Given the description of an element on the screen output the (x, y) to click on. 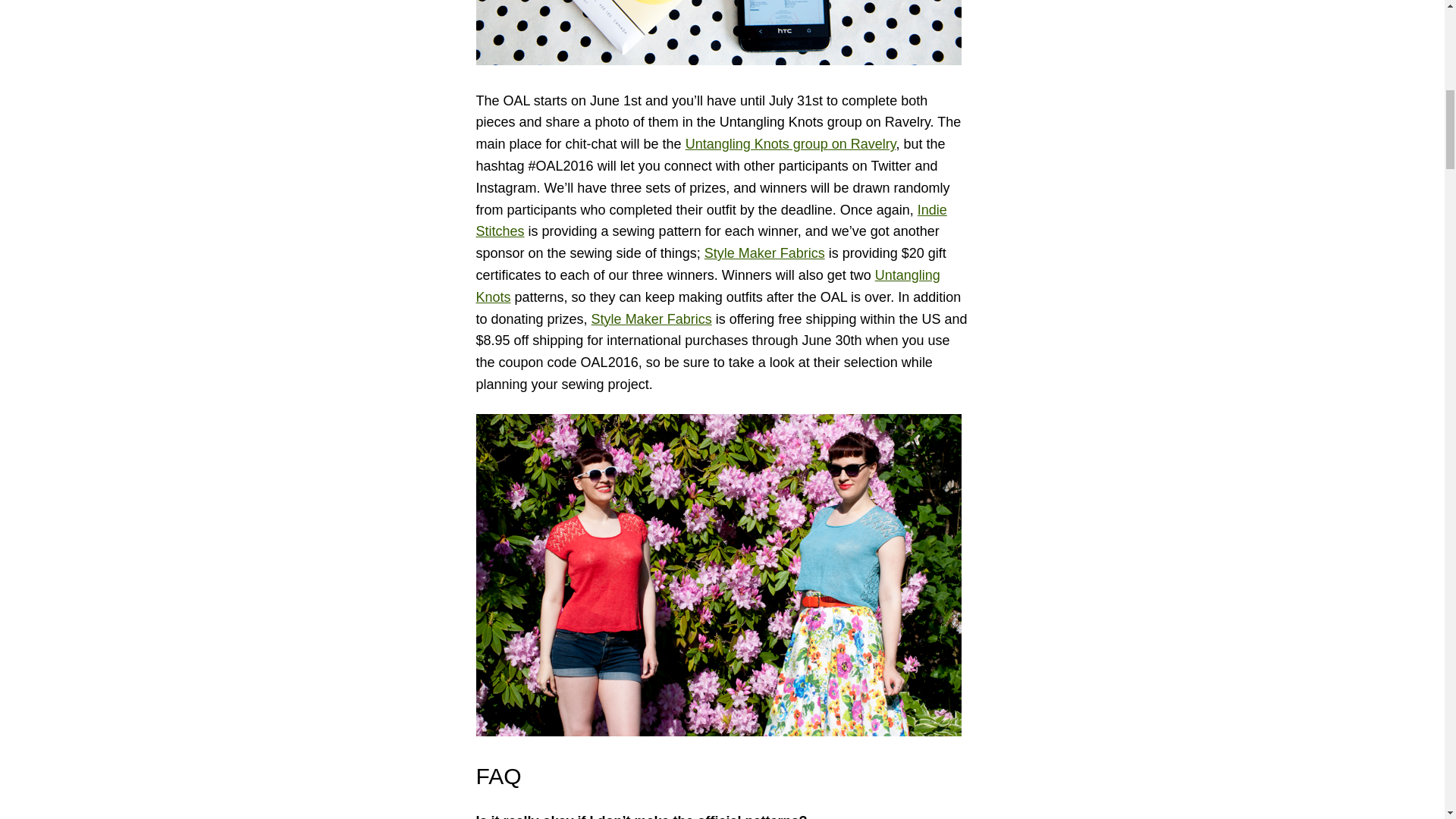
Indie Stitches (711, 220)
Style Maker Fabrics (651, 319)
Style Maker Fabrics (764, 253)
Untangling Knots group on Ravelry (790, 143)
Untangling Knots (708, 285)
